Given the description of an element on the screen output the (x, y) to click on. 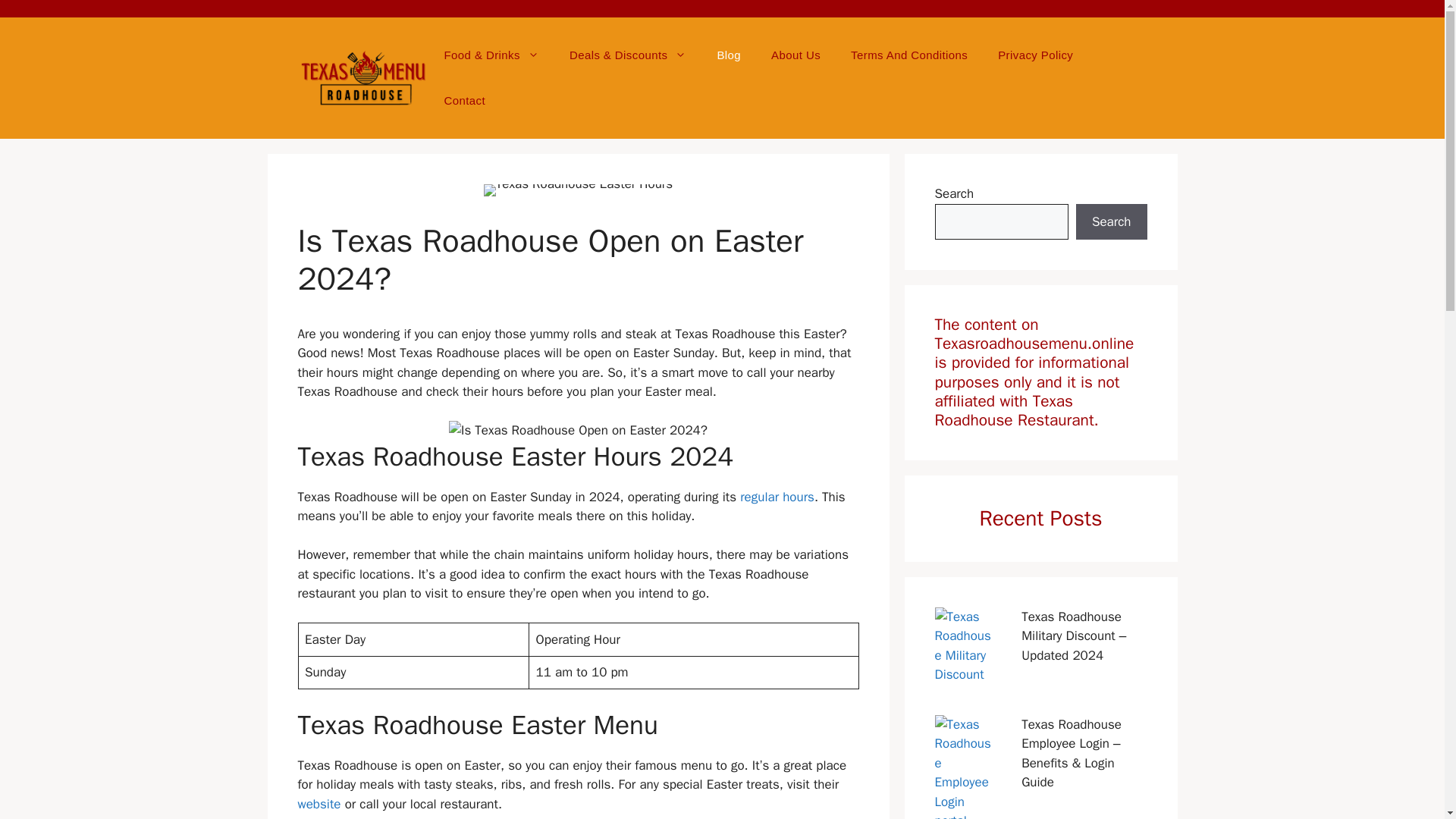
Privacy Policy (1034, 54)
Blog (728, 54)
Search (1111, 221)
website (318, 804)
Contact (464, 100)
About Us (795, 54)
Terms And Conditions (908, 54)
regular hours (776, 496)
